Given the description of an element on the screen output the (x, y) to click on. 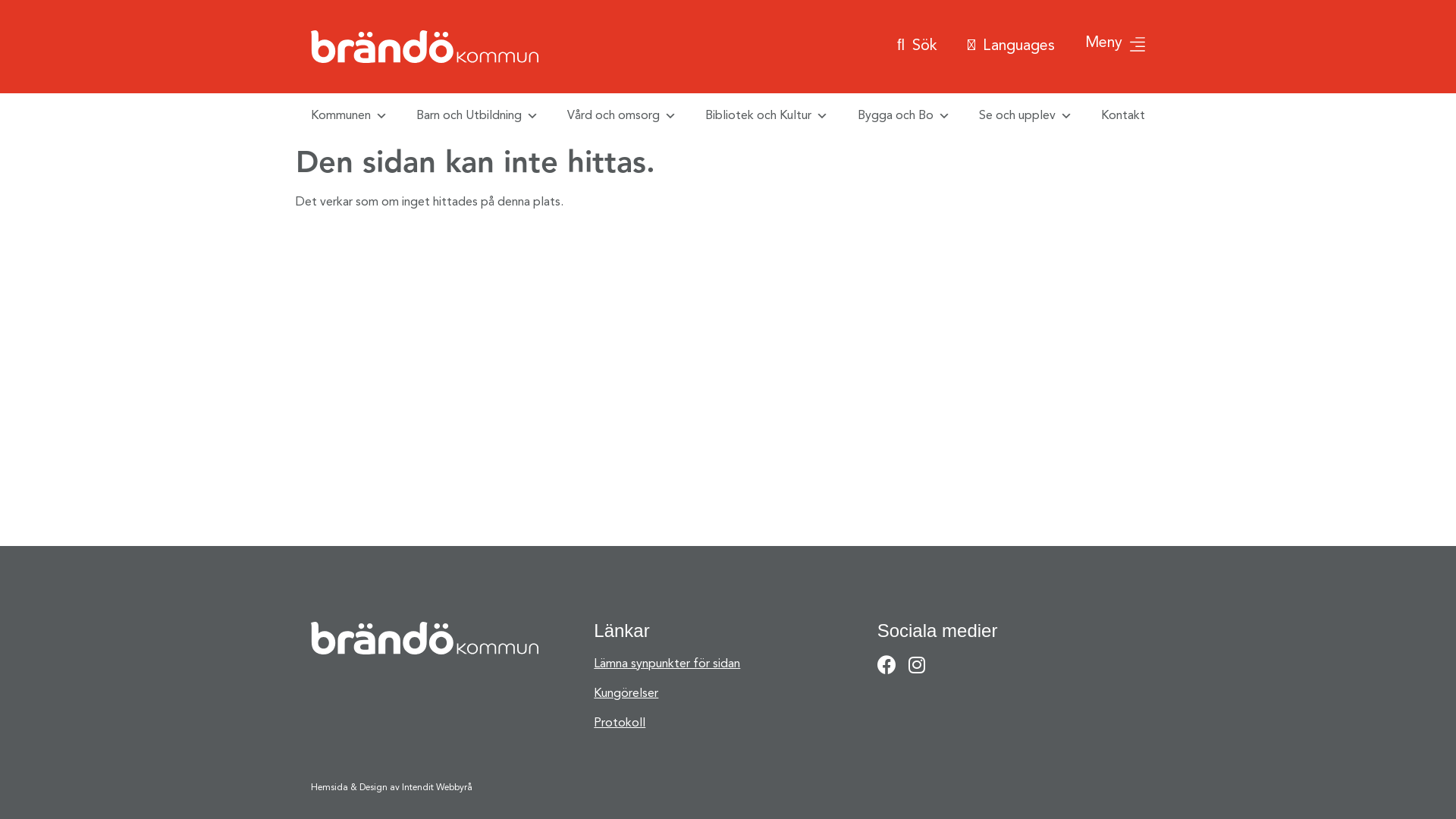
Meny Element type: text (1115, 46)
Se och upplev Element type: text (1025, 115)
Bibliotek och Kultur Element type: text (766, 115)
Barn och Utbildning Element type: text (477, 115)
Languages Element type: text (1010, 46)
Kommunen Element type: text (348, 115)
Protokoll Element type: text (727, 723)
Kontakt Element type: text (1123, 115)
Bygga och Bo Element type: text (903, 115)
